Given the description of an element on the screen output the (x, y) to click on. 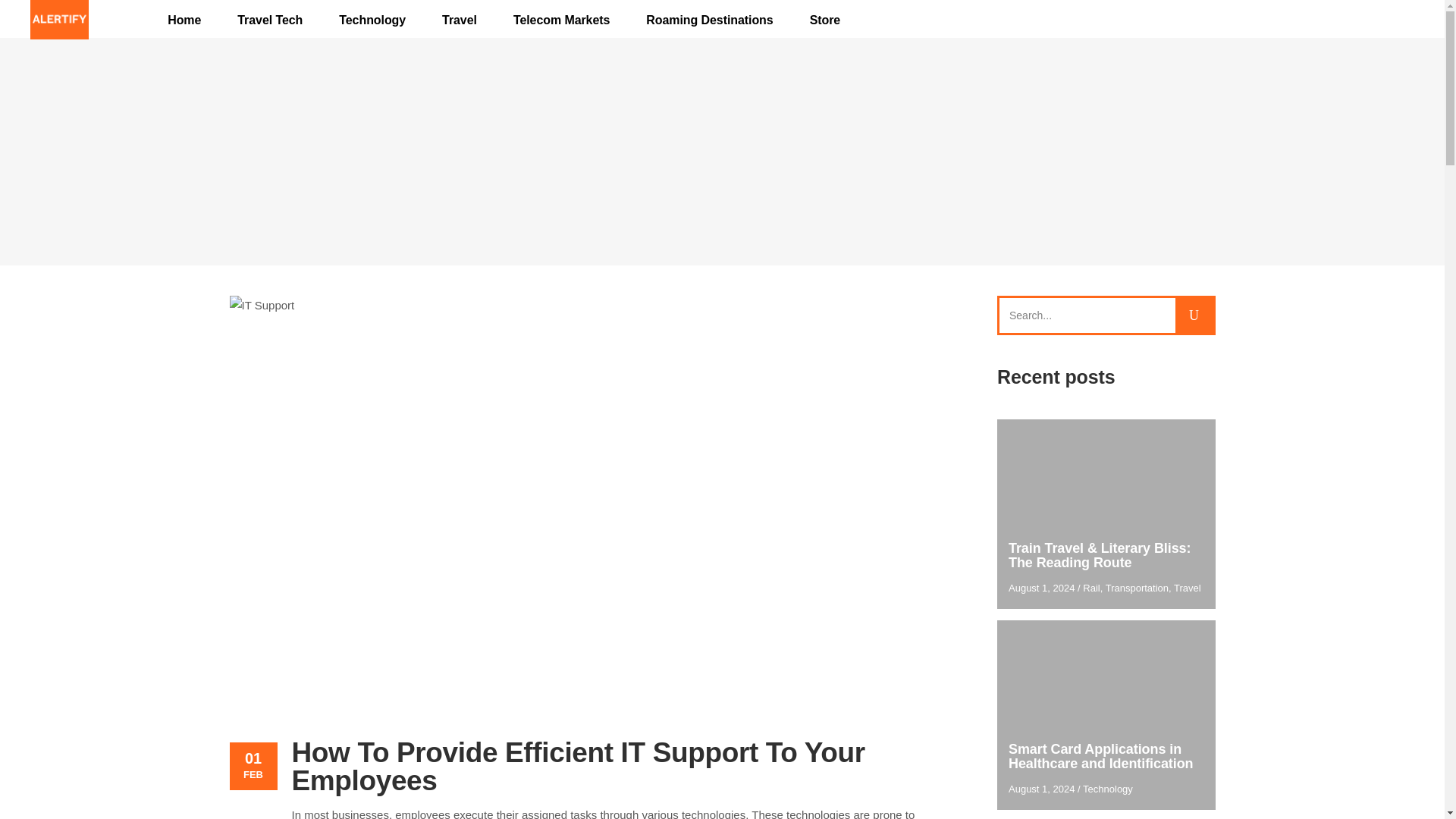
Home (184, 19)
Roaming Destinations (708, 19)
Technology (371, 19)
Telecom Markets (561, 19)
Travel (459, 19)
Travel Tech (269, 19)
Store (825, 19)
